Given the description of an element on the screen output the (x, y) to click on. 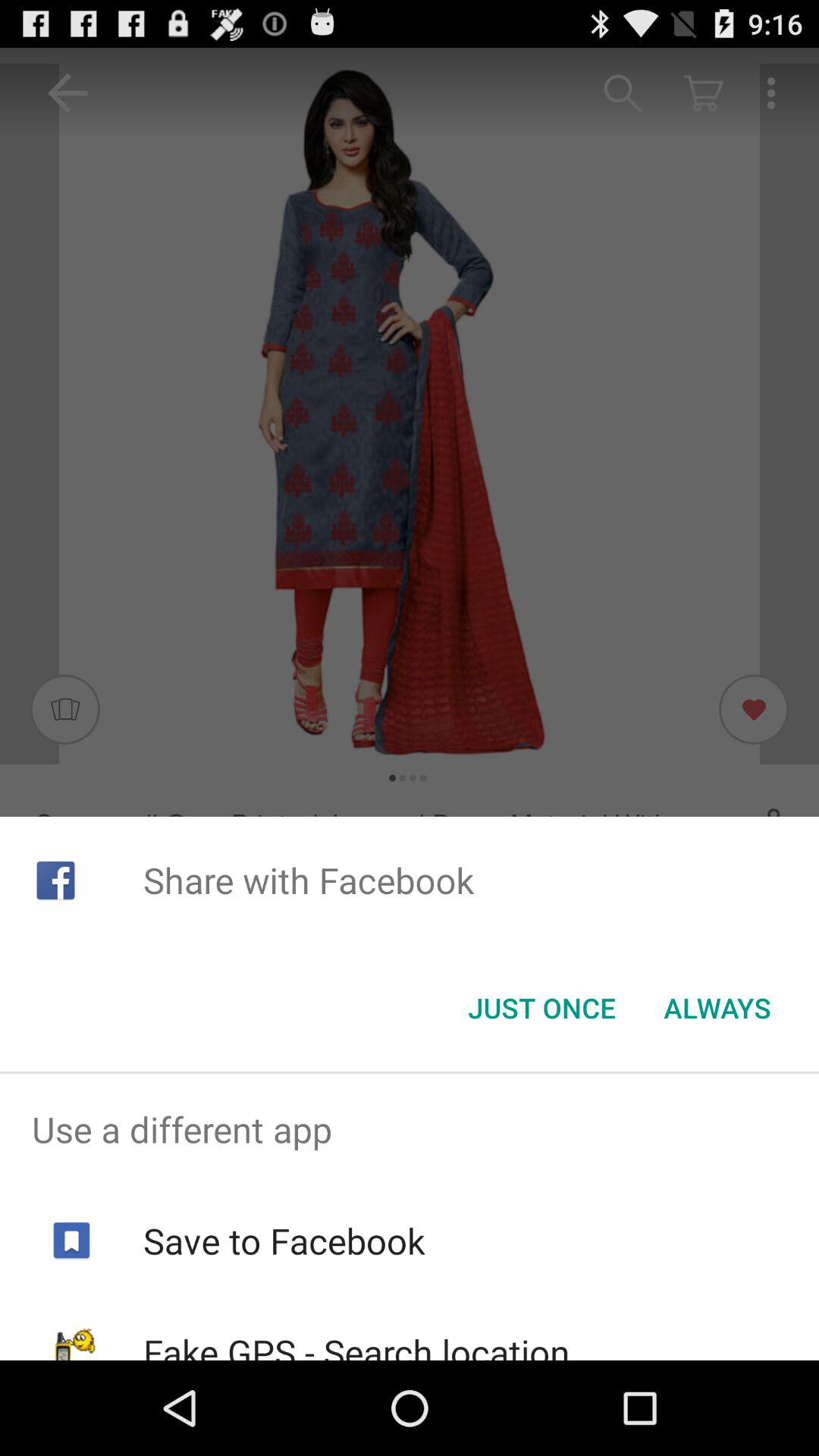
select the icon below save to facebook icon (356, 1344)
